Given the description of an element on the screen output the (x, y) to click on. 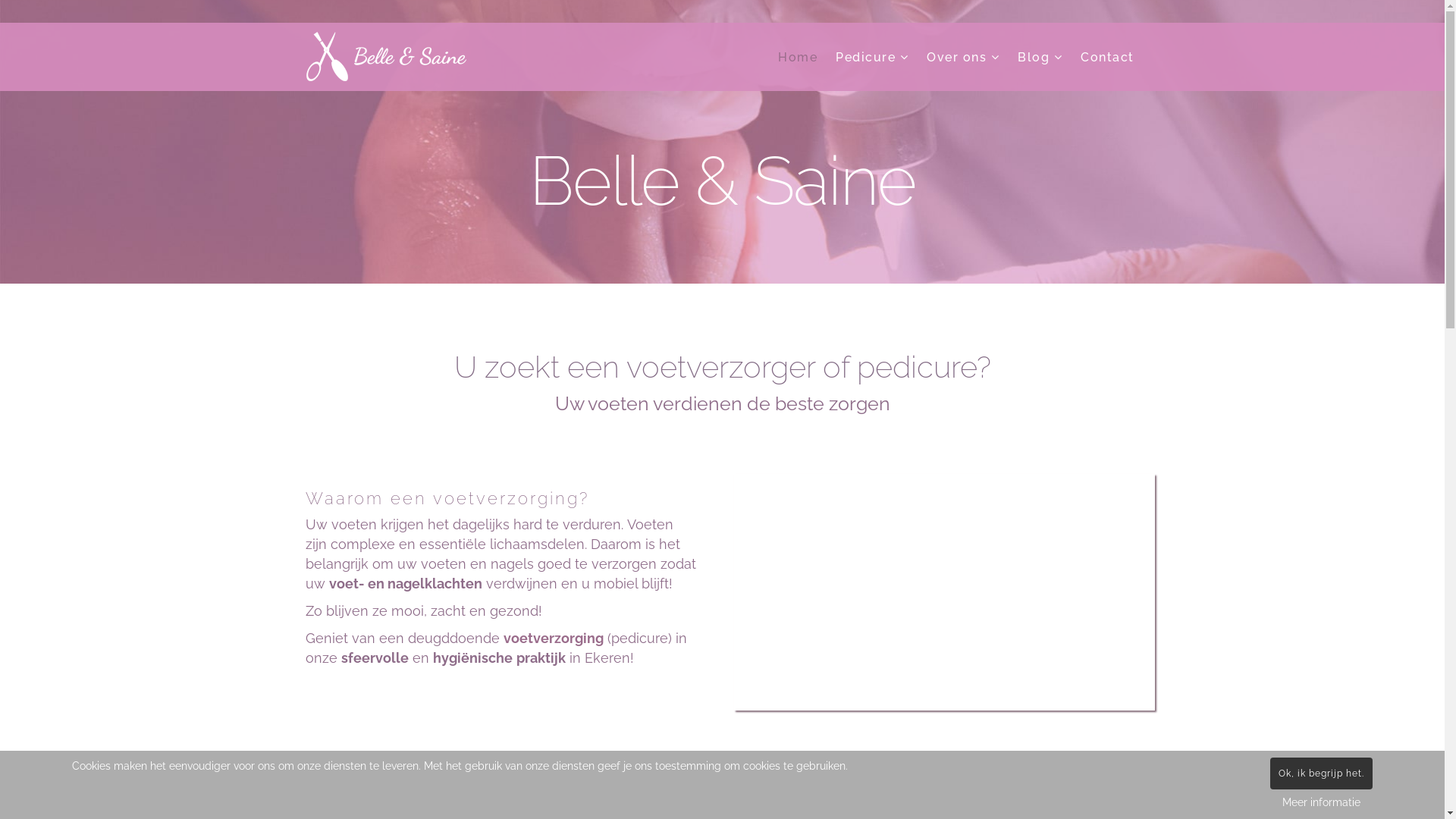
Meer informatie Element type: text (1321, 802)
Blog Element type: text (1039, 56)
voetverzorging Element type: text (553, 638)
Ok, ik begrijp het. Element type: text (1321, 773)
Home Element type: text (797, 57)
Pedicure Element type: text (871, 56)
Over ons Element type: text (962, 56)
Bel ons 0497 38 04 41 Element type: text (722, 789)
Contact Element type: text (1107, 57)
